Given the description of an element on the screen output the (x, y) to click on. 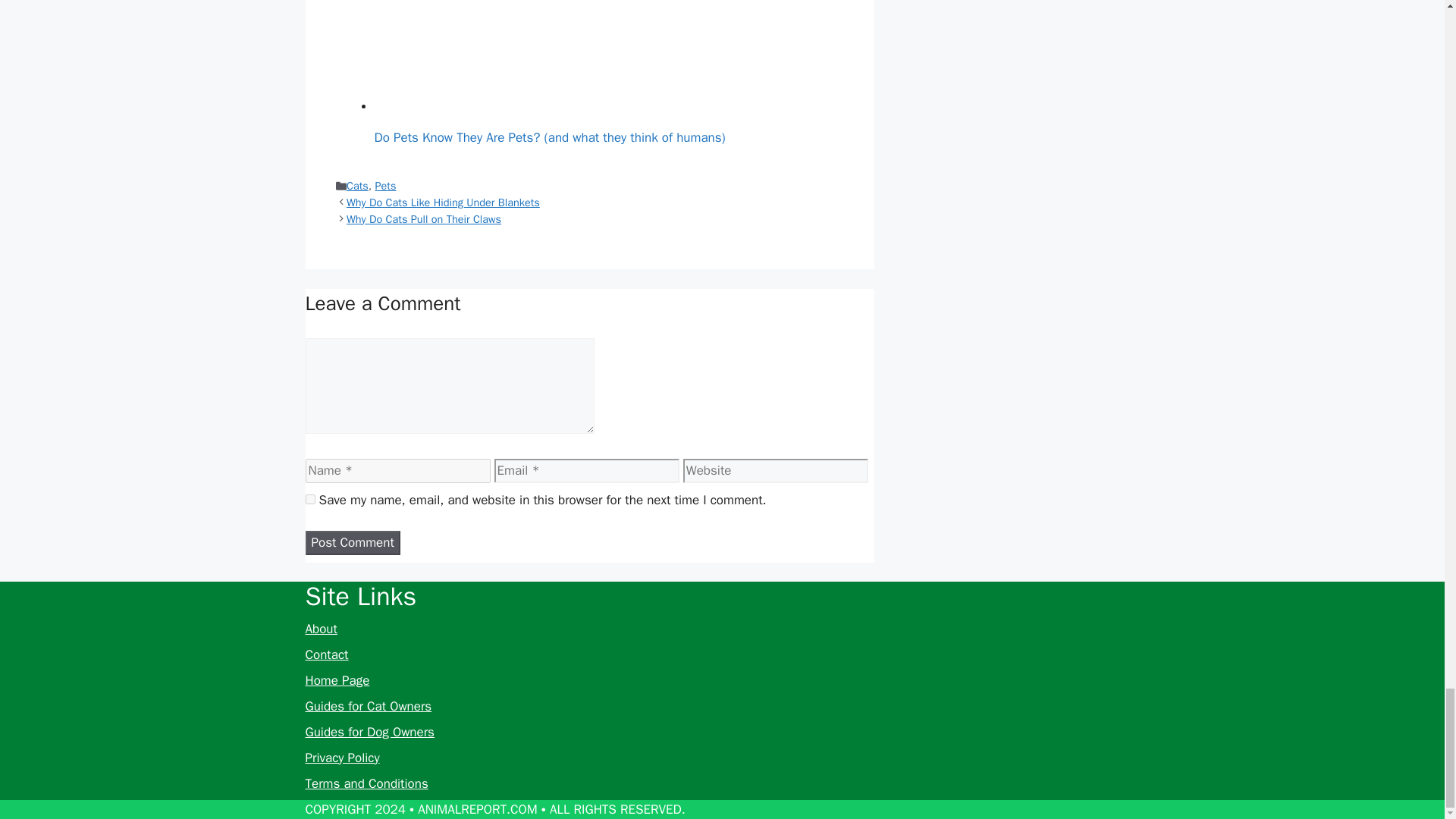
Post Comment (351, 542)
yes (309, 499)
